Given the description of an element on the screen output the (x, y) to click on. 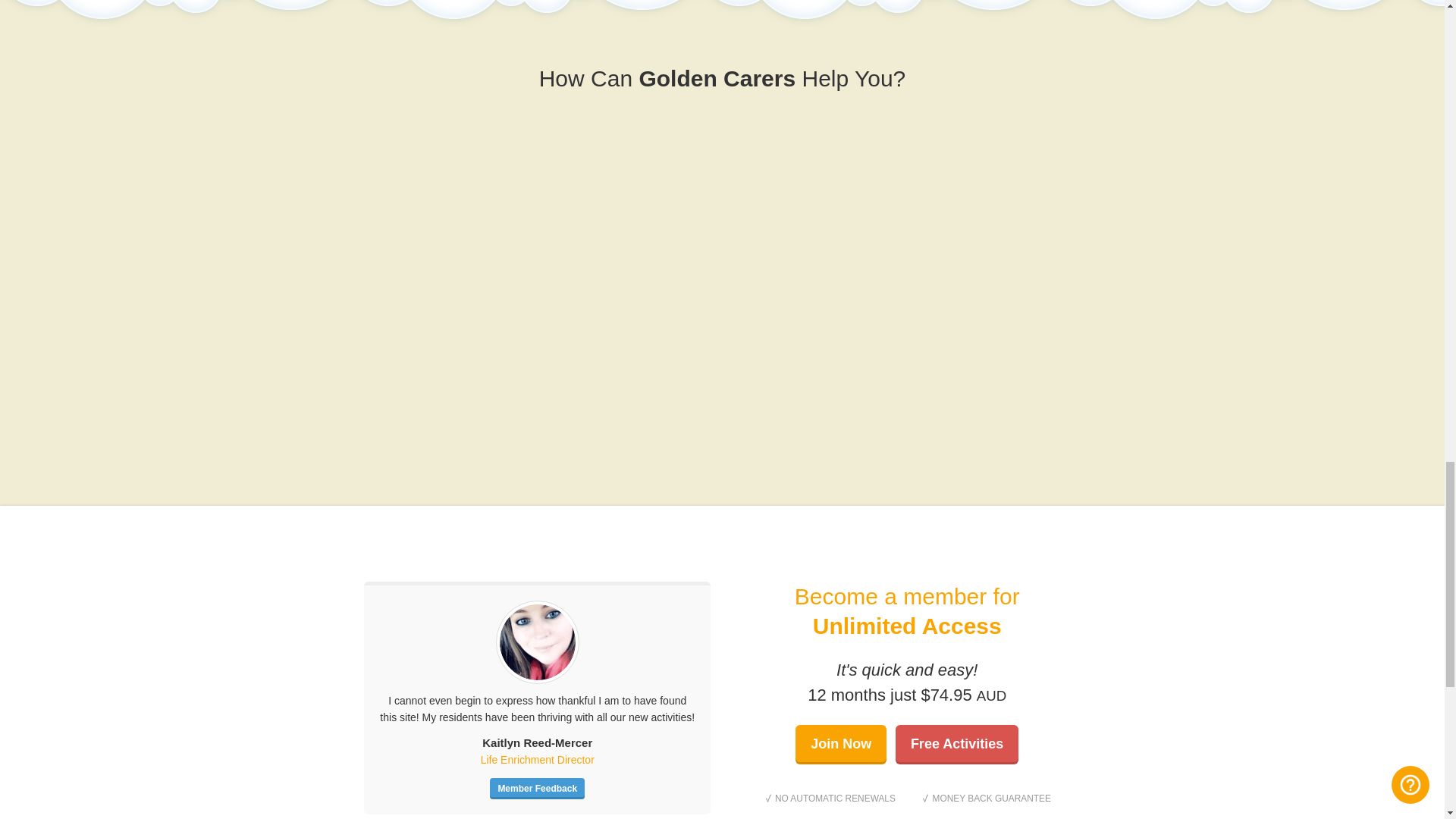
Join Golden Carers! (840, 744)
Golden Carers Testimonials (537, 788)
Member Feedback (537, 788)
Join Now (840, 744)
Free Activities (956, 744)
